Given the description of an element on the screen output the (x, y) to click on. 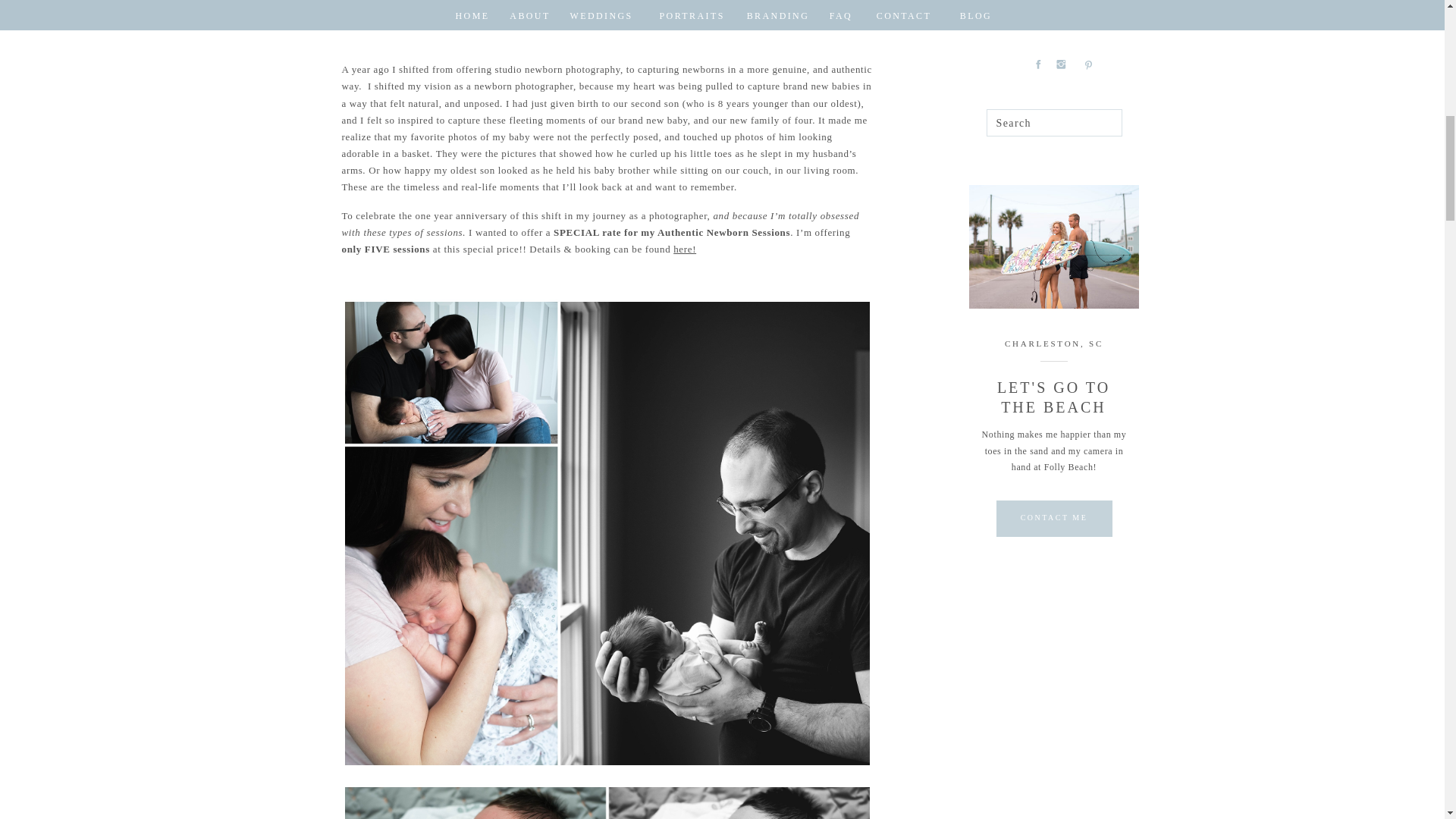
arrow (1089, 26)
CONTACT ME (1039, 27)
